Given the description of an element on the screen output the (x, y) to click on. 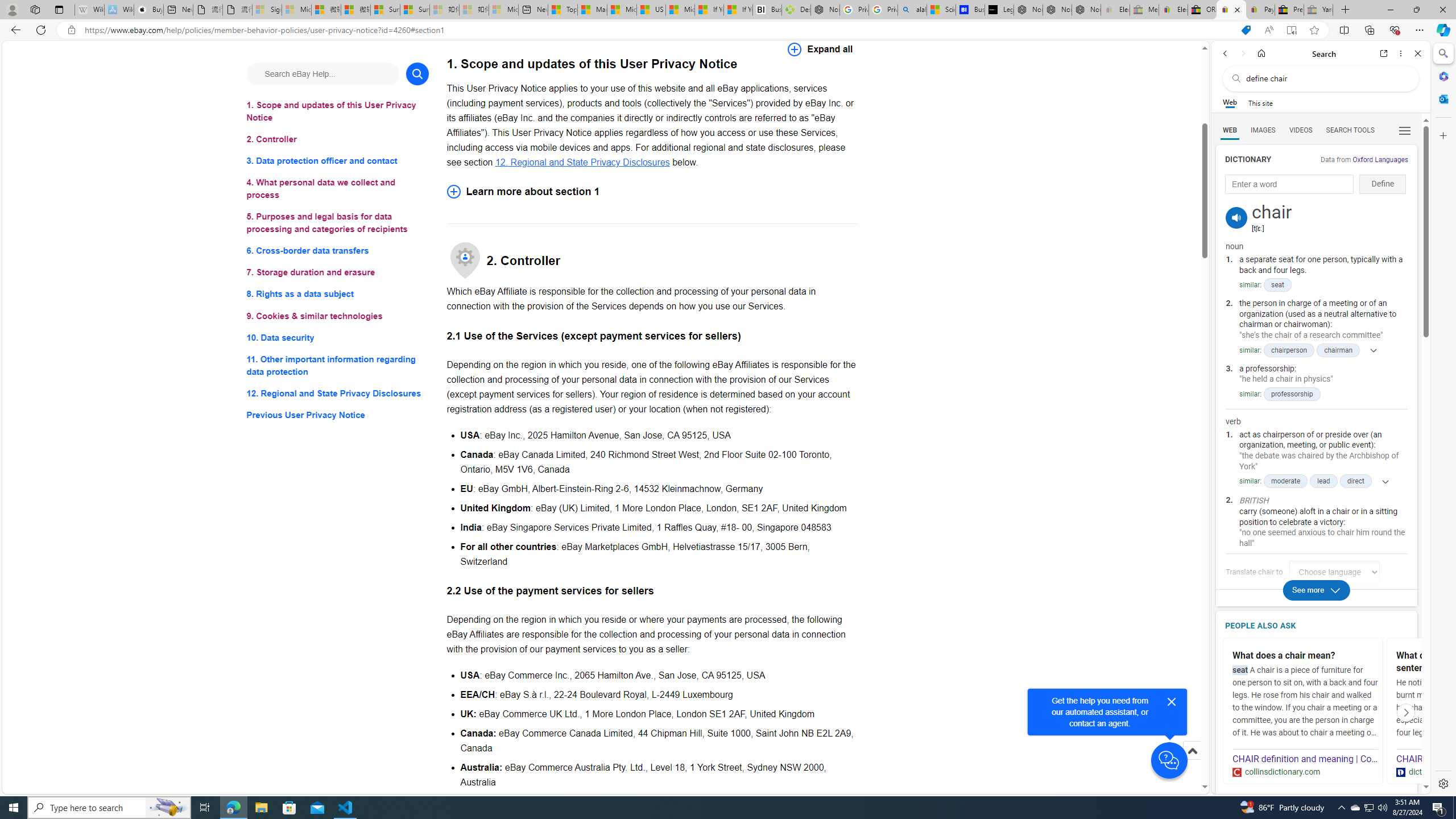
1. Scope and updates of this User Privacy Notice (337, 111)
Previous User Privacy Notice (337, 414)
Scroll to top (1191, 750)
11. Other important information regarding data protection (337, 365)
